Given the description of an element on the screen output the (x, y) to click on. 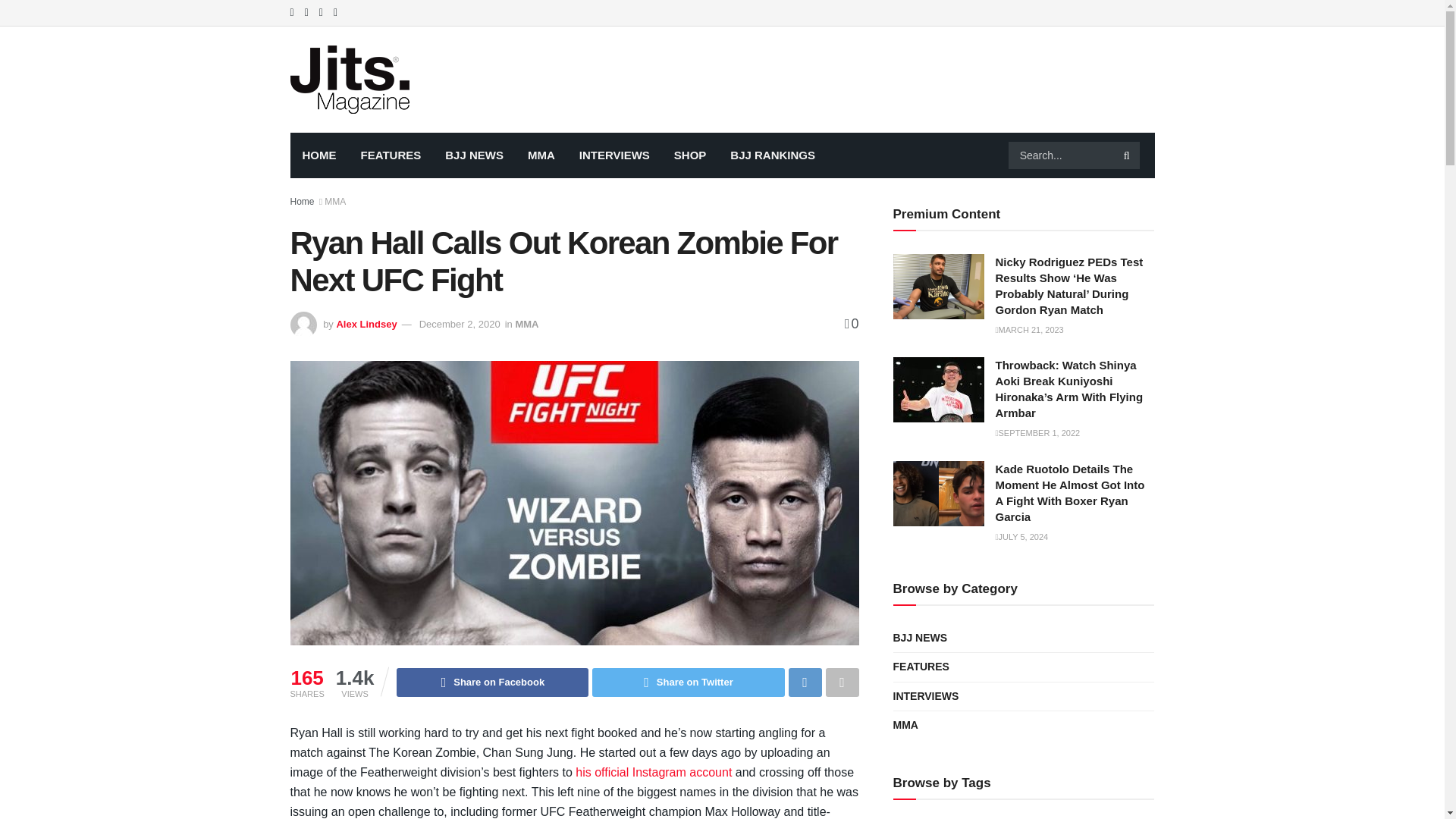
Alex Lindsey (366, 324)
BJJ NEWS (473, 155)
MMA (335, 201)
HOME (318, 155)
Home (301, 201)
0 (851, 323)
MMA (526, 324)
Share on Twitter (688, 682)
December 2, 2020 (459, 324)
Share on Facebook (492, 682)
FEATURES (391, 155)
MMA (541, 155)
INTERVIEWS (614, 155)
SHOP (690, 155)
BJJ RANKINGS (772, 155)
